Given the description of an element on the screen output the (x, y) to click on. 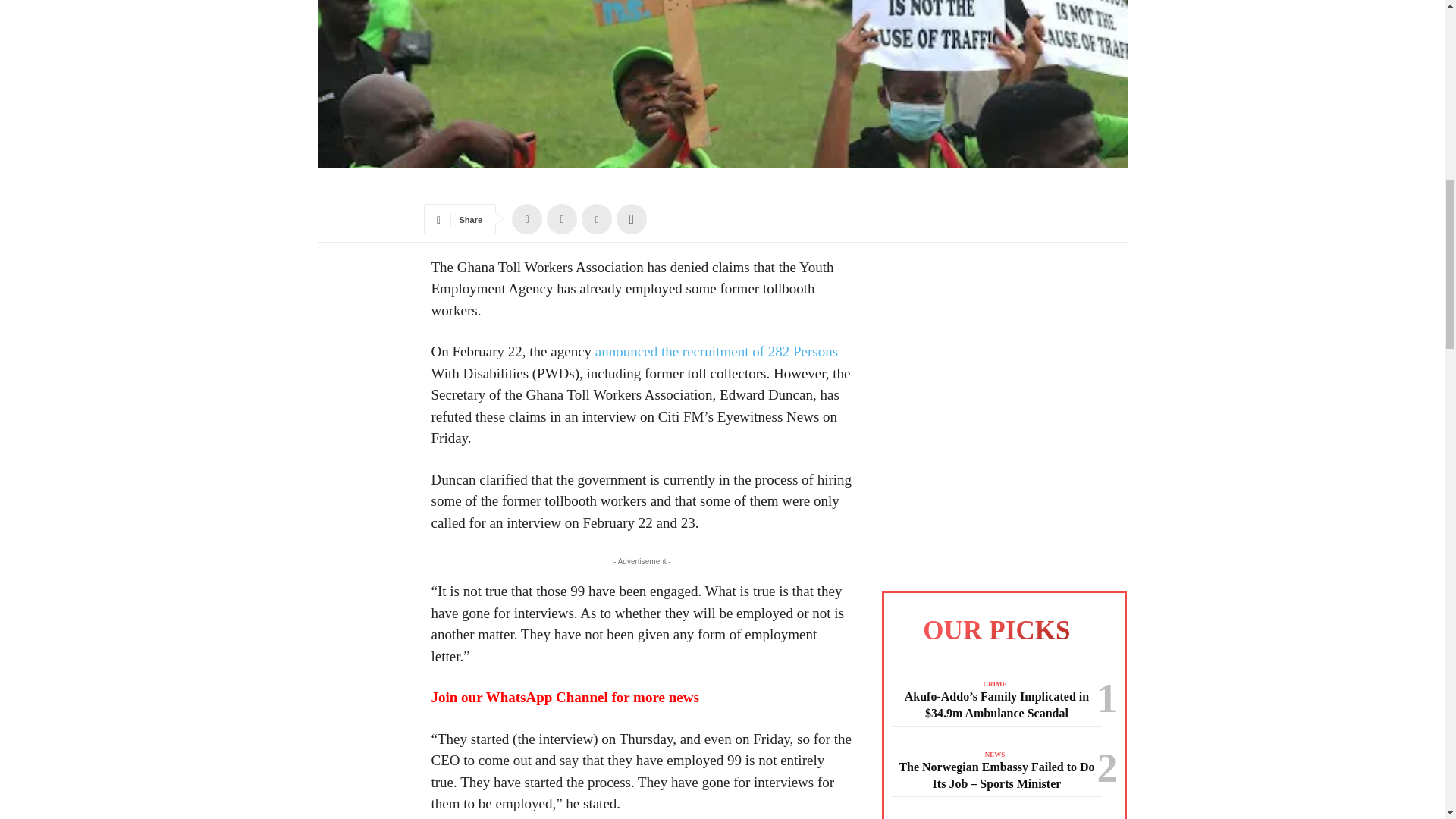
Pinterest (595, 218)
Twitter (561, 218)
WhatsApp (630, 218)
Facebook (526, 218)
